Given the description of an element on the screen output the (x, y) to click on. 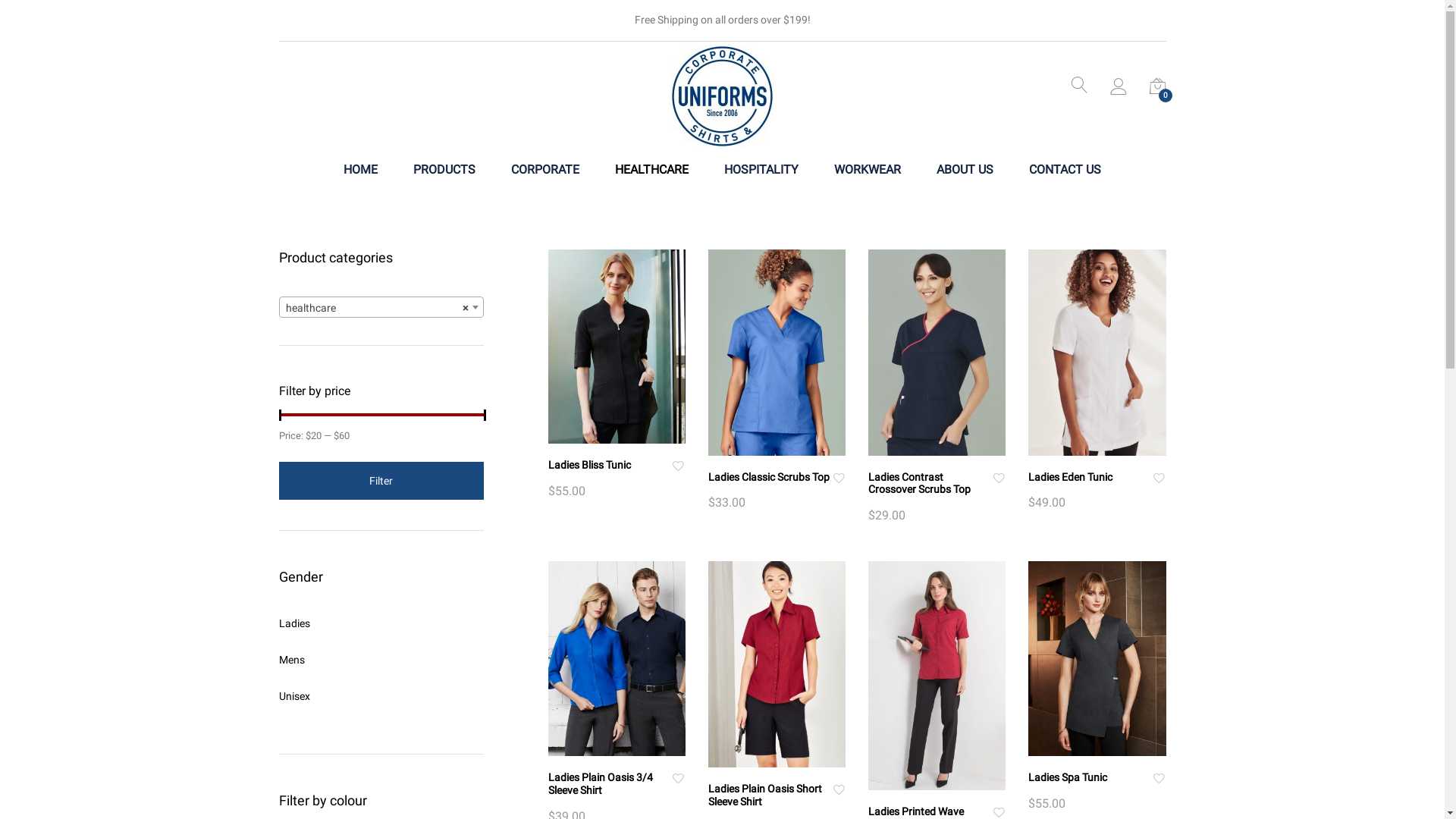
Vest Element type: text (934, 657)
Ladies Eden Tunic Element type: text (1070, 476)
Tops Element type: text (934, 631)
Shirts Element type: text (934, 477)
Suiting Element type: text (934, 580)
Shorts Element type: text (934, 503)
Size Guides Element type: text (415, 605)
Corporate Element type: text (707, 529)
Filter Element type: text (381, 480)
Contact Us Element type: text (415, 529)
HOME Element type: text (360, 169)
Ladies Bliss Tunic Element type: text (588, 464)
Polo Element type: text (707, 733)
Shipping Element type: text (415, 657)
Embroidery Element type: text (415, 631)
Chinos Element type: text (707, 503)
ABOUT US Element type: text (964, 169)
Mens Element type: text (291, 659)
0 Element type: text (1157, 89)
Healthcare Element type: text (707, 605)
WORKWEAR Element type: text (867, 169)
Ladies Classic Scrubs Top Element type: text (768, 476)
Ladies Element type: text (294, 623)
Jacket Element type: text (707, 657)
CORPORATE Element type: text (545, 169)
Dress Element type: text (707, 555)
Home Element type: text (415, 477)
Sports Element type: text (934, 555)
Hospitality Element type: text (707, 631)
Tees Element type: text (934, 605)
Workwear Element type: text (934, 683)
Ladies Contrast Crossover Scrubs Top Element type: text (919, 482)
Knitwear Element type: text (707, 683)
Samples Element type: text (415, 555)
Fleecy Element type: text (707, 580)
HEALTHCARE Element type: text (651, 169)
PRODUCTS Element type: text (444, 169)
Ladies Plain Oasis Short Sleeve Shirt Element type: text (765, 794)
Skirt Element type: text (934, 529)
Ladies Spa Tunic Element type: text (1067, 777)
Pant Element type: text (707, 708)
About Us Element type: text (415, 503)
Unisex Element type: text (294, 696)
Ladies Plain Oasis 3/4 Sleeve Shirt Element type: text (599, 783)
HOSPITALITY Element type: text (761, 169)
Returns Element type: text (415, 580)
CONTACT US Element type: text (1065, 169)
Apron Element type: text (707, 477)
